Given the description of an element on the screen output the (x, y) to click on. 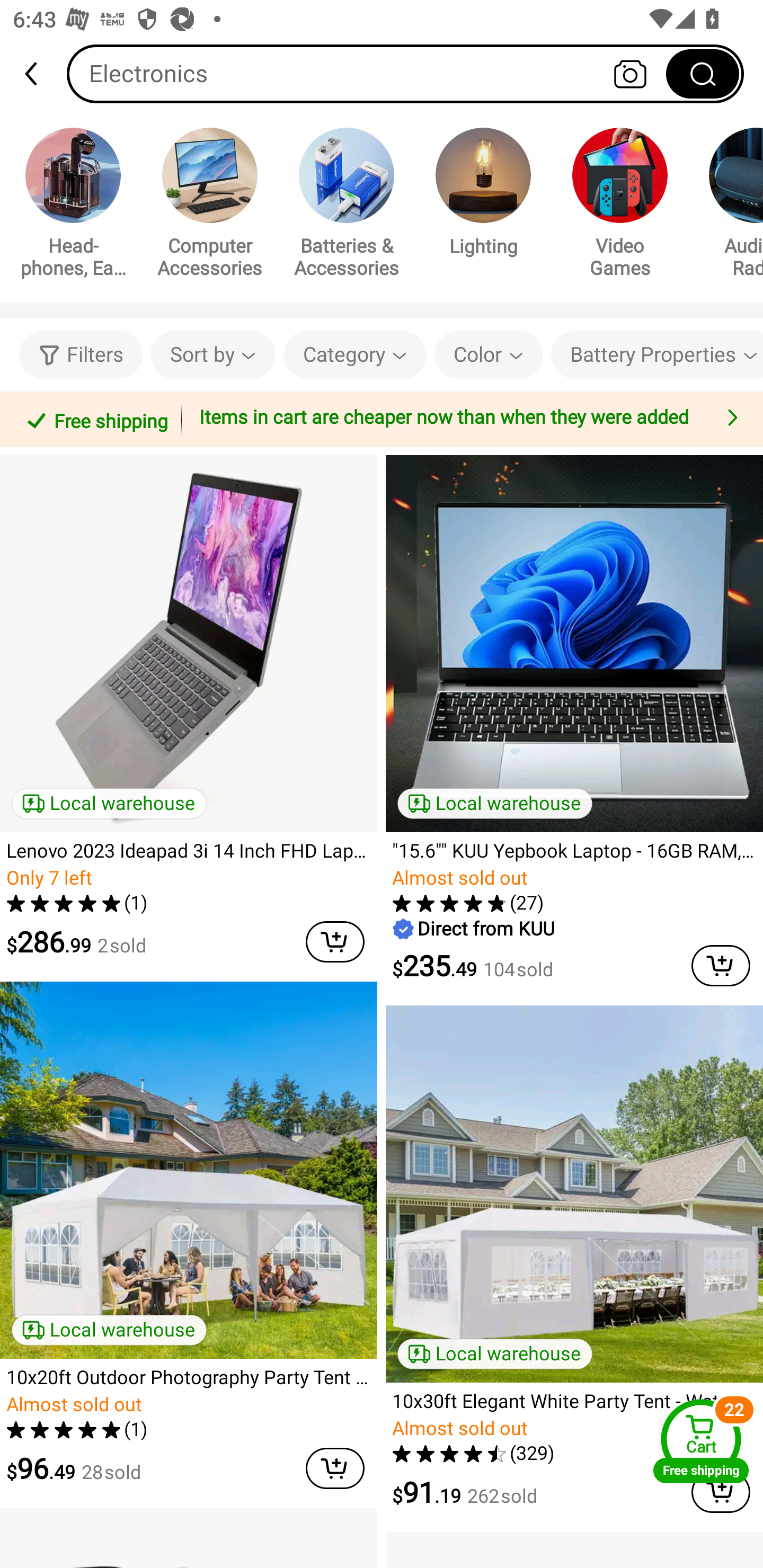
back (39, 73)
Electronics (405, 73)
Headphones, Earbuds & Accessories (73, 205)
Computer Accessories (209, 205)
Batteries & Accessories (346, 205)
Lighting (483, 195)
Video Games (619, 205)
Filters (80, 354)
Sort by (212, 354)
Category (354, 354)
Color (488, 354)
Battery Properties (656, 354)
 Free shipping (93, 418)
cart delete (334, 941)
cart delete (720, 965)
Cart Free shipping Cart (701, 1440)
cart delete (334, 1468)
